Given the description of an element on the screen output the (x, y) to click on. 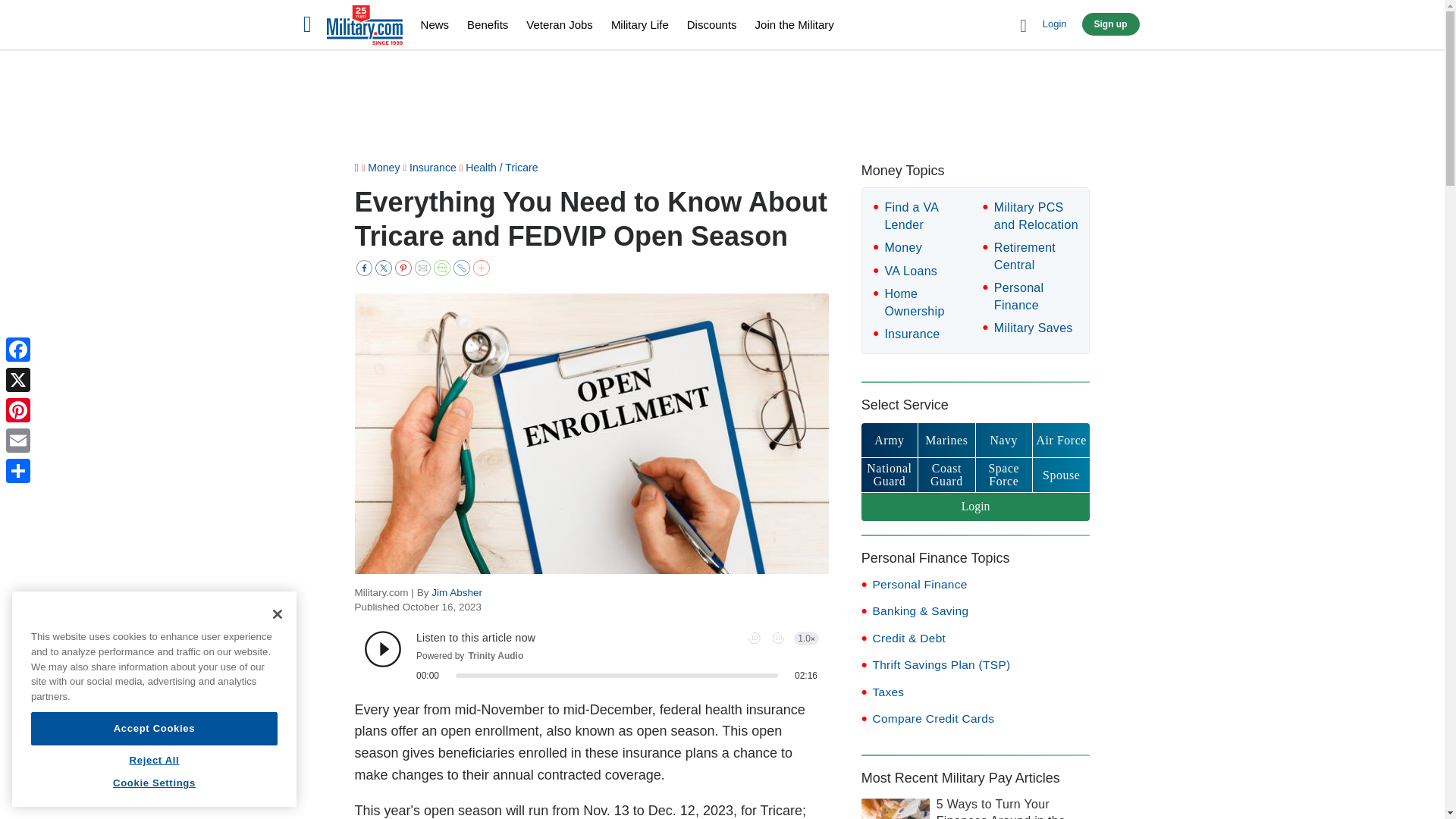
News (434, 24)
Space Force login link (1003, 474)
Navy login link (1003, 440)
Military Life (639, 24)
Home (364, 27)
Army login link (889, 440)
Marines login link (946, 440)
Trinity Audio Player (591, 655)
Spouse login link (1060, 474)
Benefits (487, 24)
Veteran Jobs (558, 24)
Login link (975, 506)
Coast Guard login link (946, 474)
National Guard login link (889, 474)
Air Force login link (1060, 440)
